Given the description of an element on the screen output the (x, y) to click on. 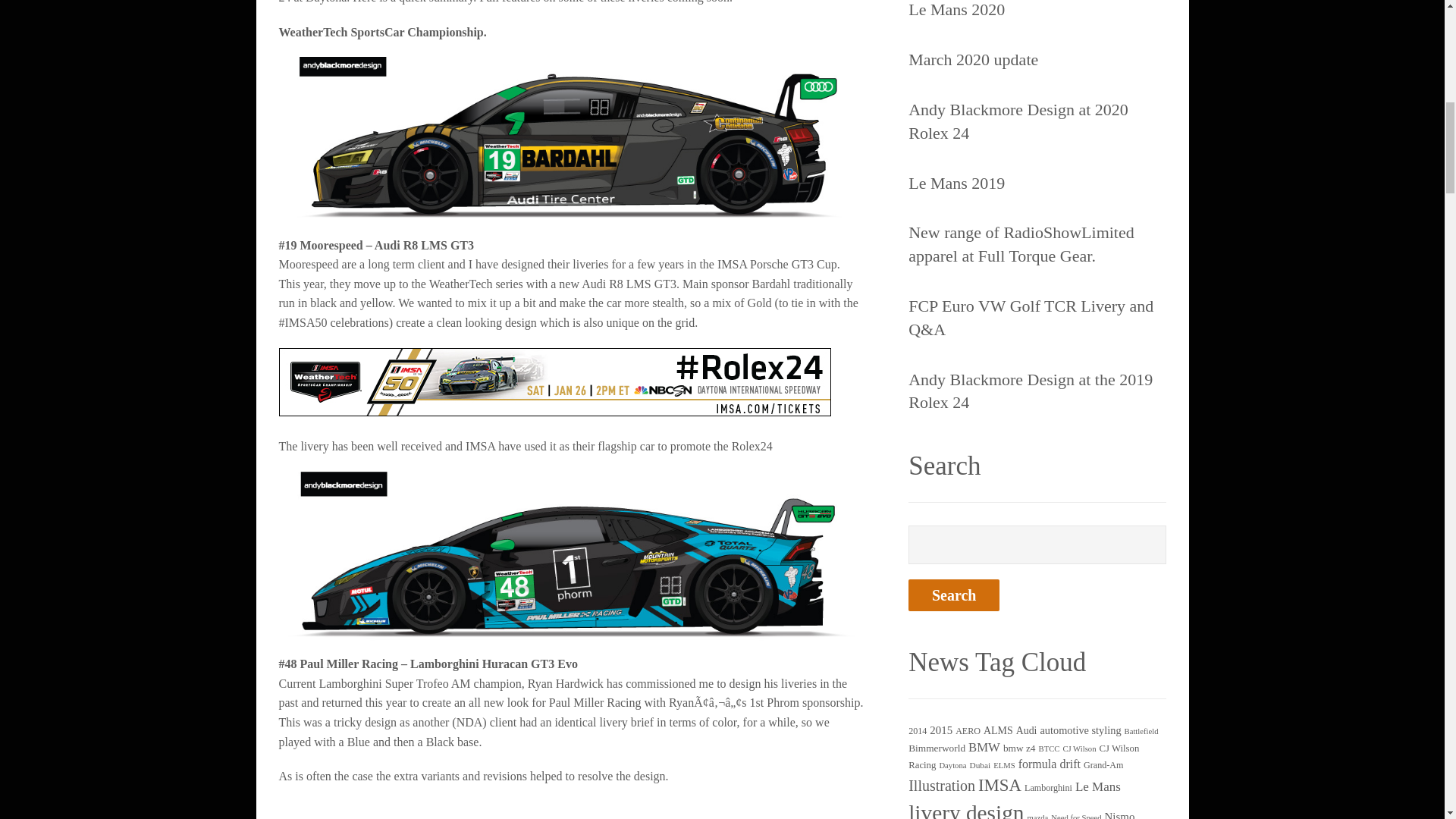
Andy Blackmore Design at 2020 Rolex 24 (1037, 121)
Le Mans 2019 (956, 183)
Search (953, 594)
2014 (917, 730)
Search (953, 594)
Andy Blackmore Design at the 2019 Rolex 24 (1037, 391)
New range of RadioShowLimited apparel at Full Torque Gear. (1037, 244)
March 2020 update (973, 60)
2015 (941, 729)
Le Mans 2020 (956, 11)
